Given the description of an element on the screen output the (x, y) to click on. 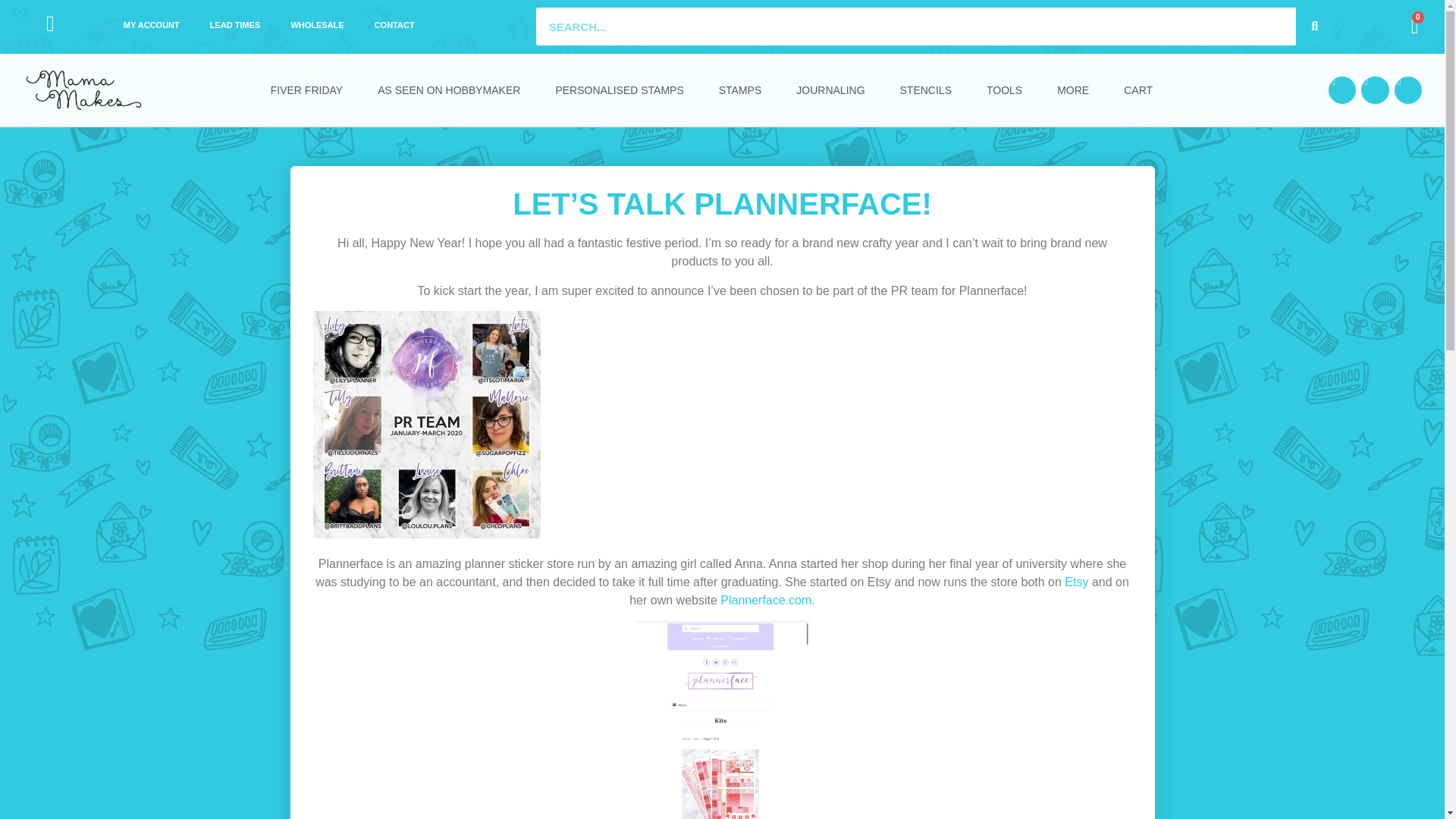
PERSONALISED STAMPS (619, 90)
JOURNALING (829, 90)
WHOLESALE (316, 24)
STENCILS (925, 90)
MY ACCOUNT (151, 24)
AS SEEN ON HOBBYMAKER (448, 90)
TOOLS (1003, 90)
LEAD TIMES (235, 24)
0 (1415, 26)
MORE (1072, 90)
